Given the description of an element on the screen output the (x, y) to click on. 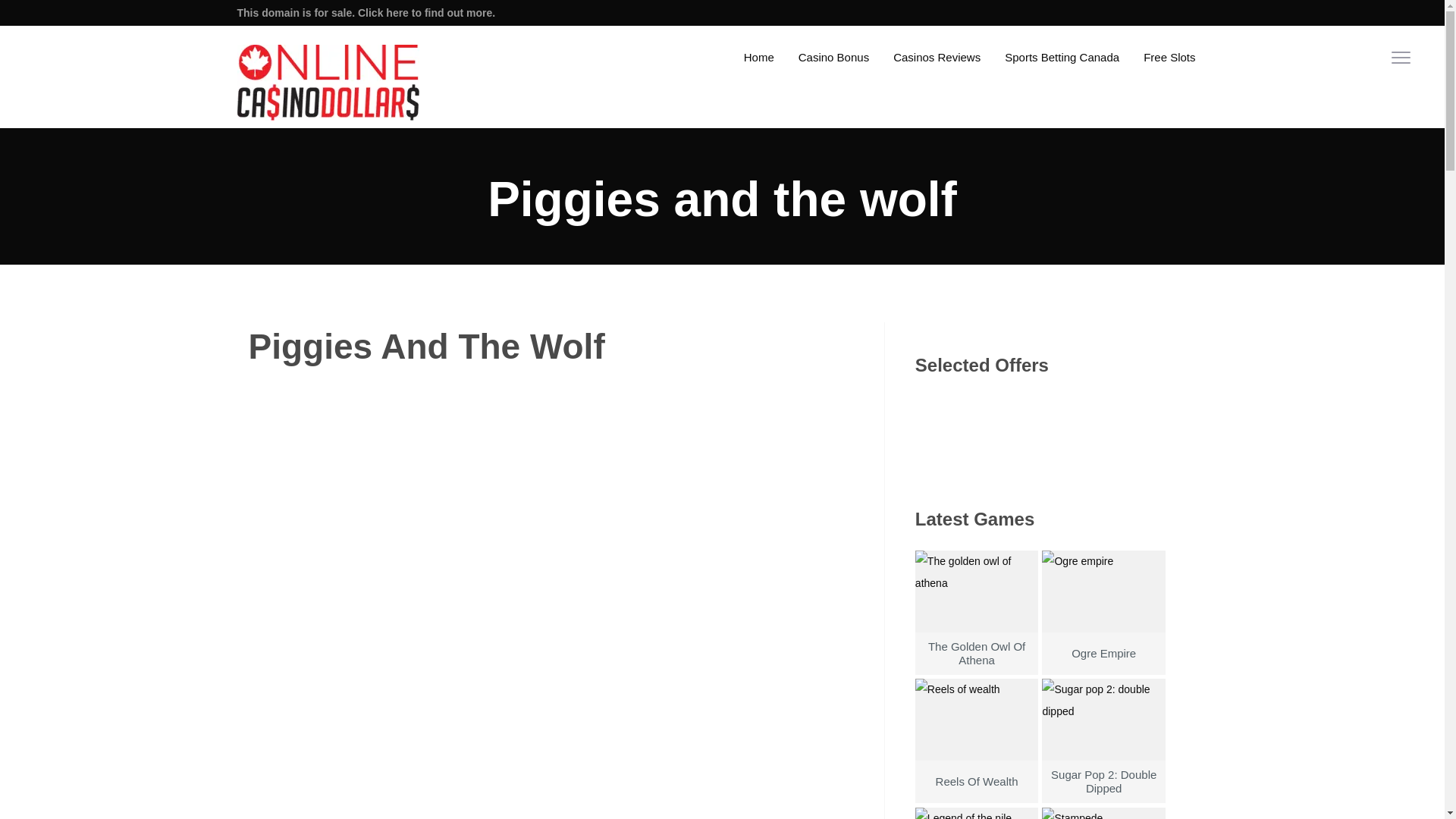
The golden owl of athena (976, 629)
Sports Betting Canada (1061, 56)
Reels of wealth (976, 757)
Casinos Reviews (936, 56)
Free Slots (1169, 56)
This domain is for sale. Click here to find out more. (365, 12)
Sugar pop 2: double dipped (1103, 757)
Casino Bonus (833, 56)
Ogre empire (1103, 629)
Home (759, 56)
